Given the description of an element on the screen output the (x, y) to click on. 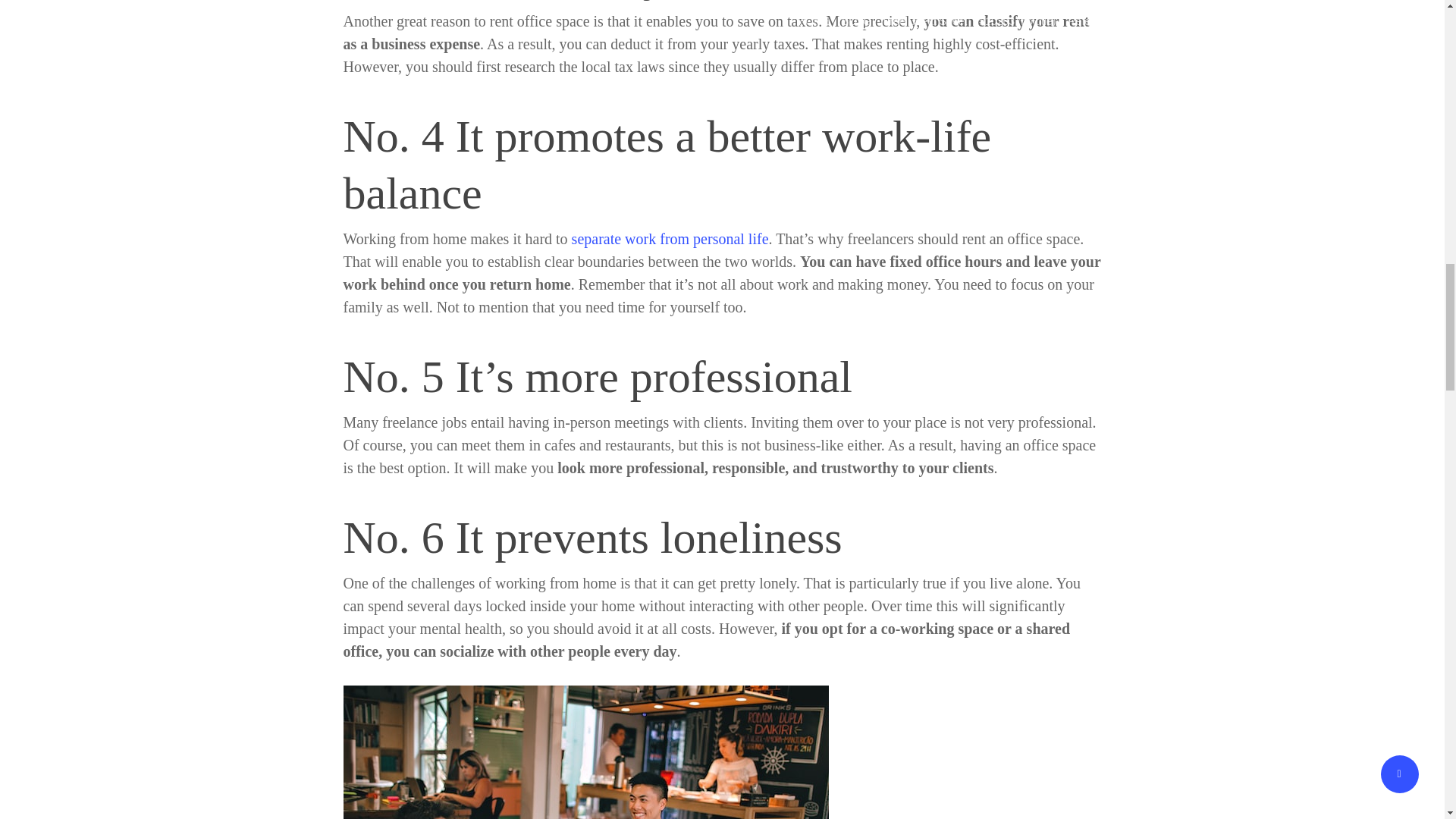
separate work from personal life (670, 238)
